Given the description of an element on the screen output the (x, y) to click on. 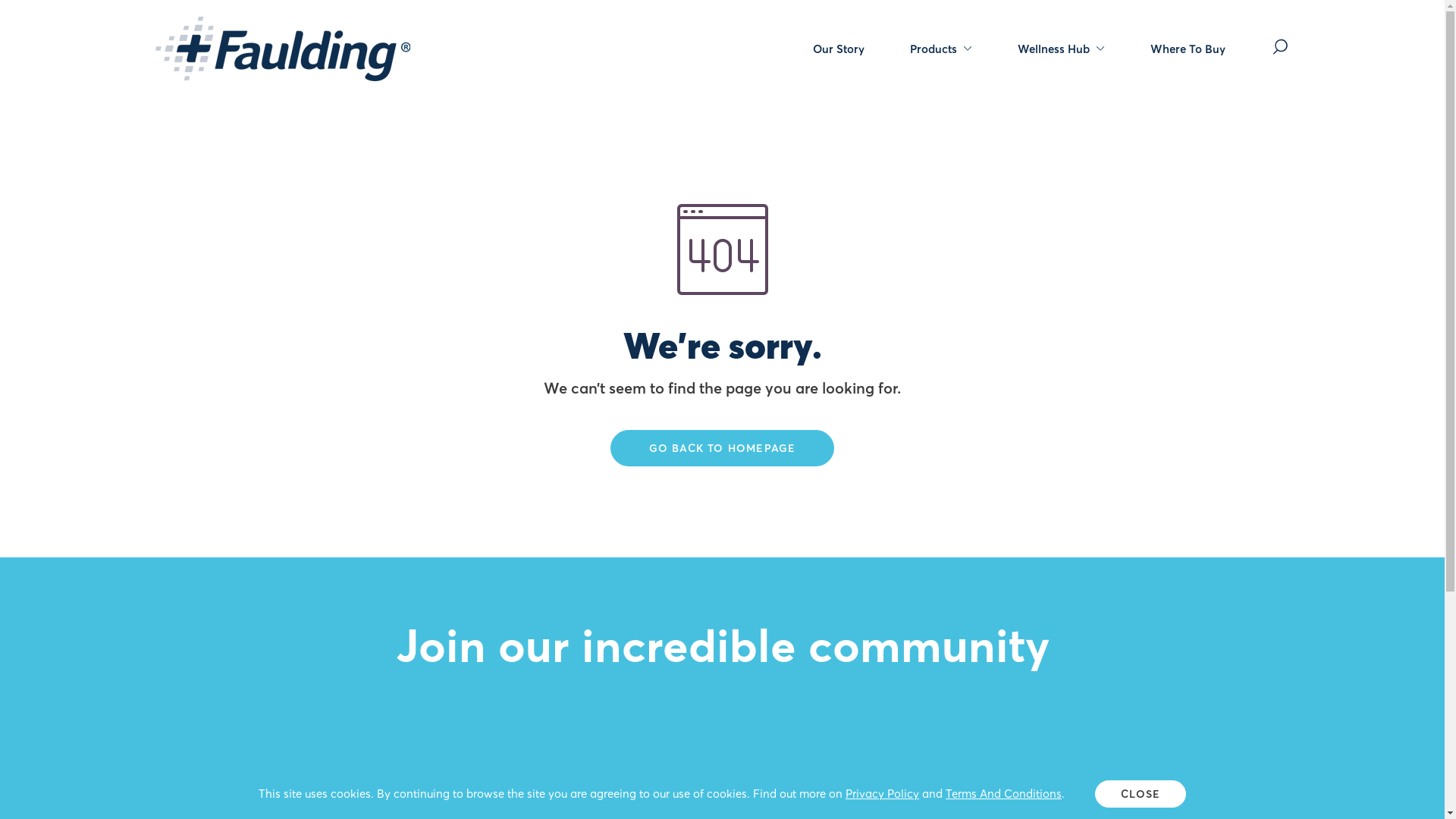
Privacy Policy Element type: text (882, 793)
CLOSE Element type: text (1140, 793)
Our Story Element type: text (838, 48)
Search Element type: text (1279, 46)
Terms And Conditions Element type: text (1003, 793)
Where To Buy Element type: text (1186, 48)
Products Element type: text (941, 48)
GO BACK TO HOMEPAGE Element type: text (722, 447)
Wellness Hub Element type: text (1060, 48)
